Given the description of an element on the screen output the (x, y) to click on. 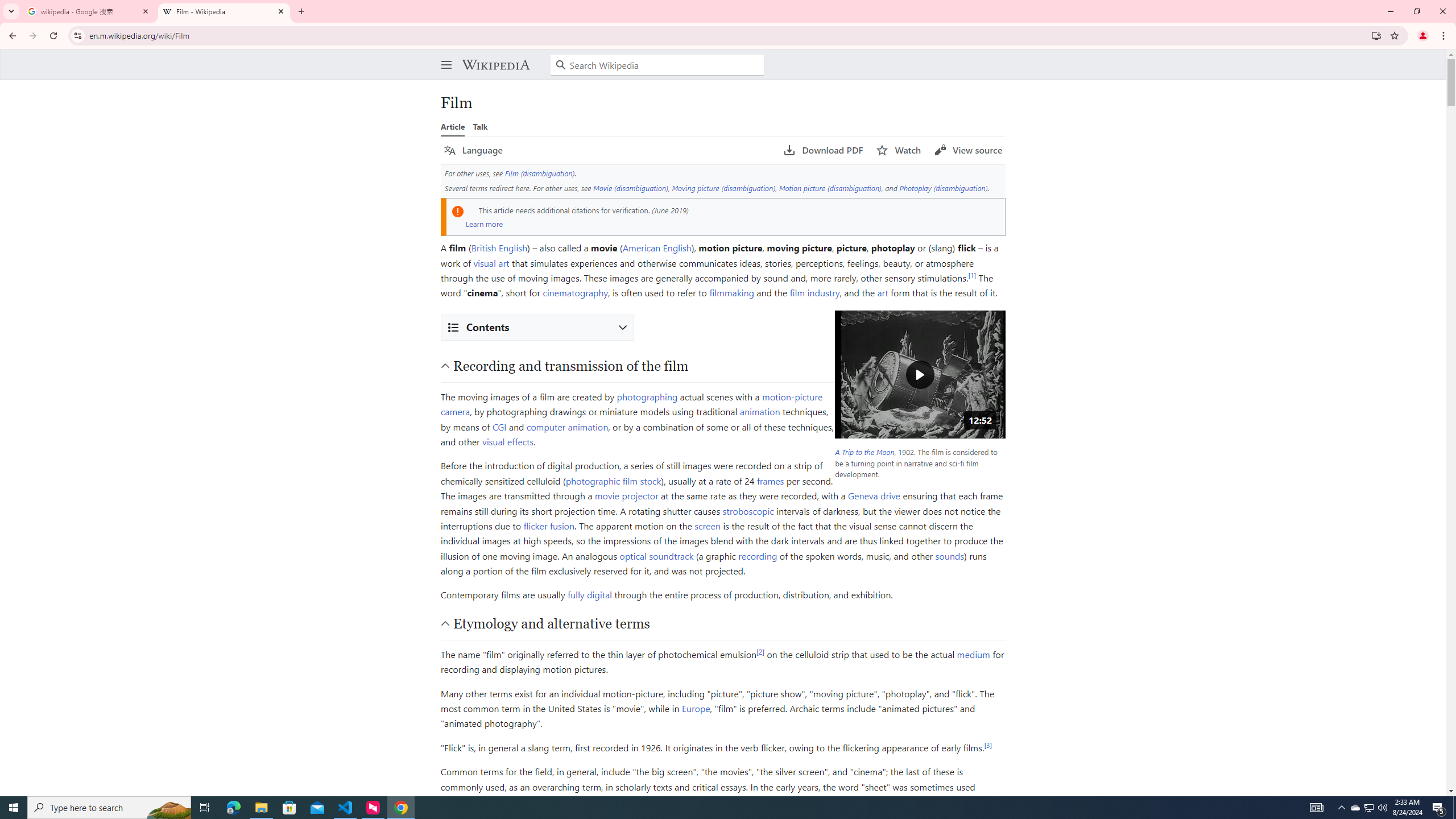
American English (656, 247)
Film - Wikipedia (224, 11)
AutomationID: main-menu-input (443, 55)
Play video (920, 374)
[2] (760, 651)
Wikipedia (495, 64)
Europe (695, 708)
